Given the description of an element on the screen output the (x, y) to click on. 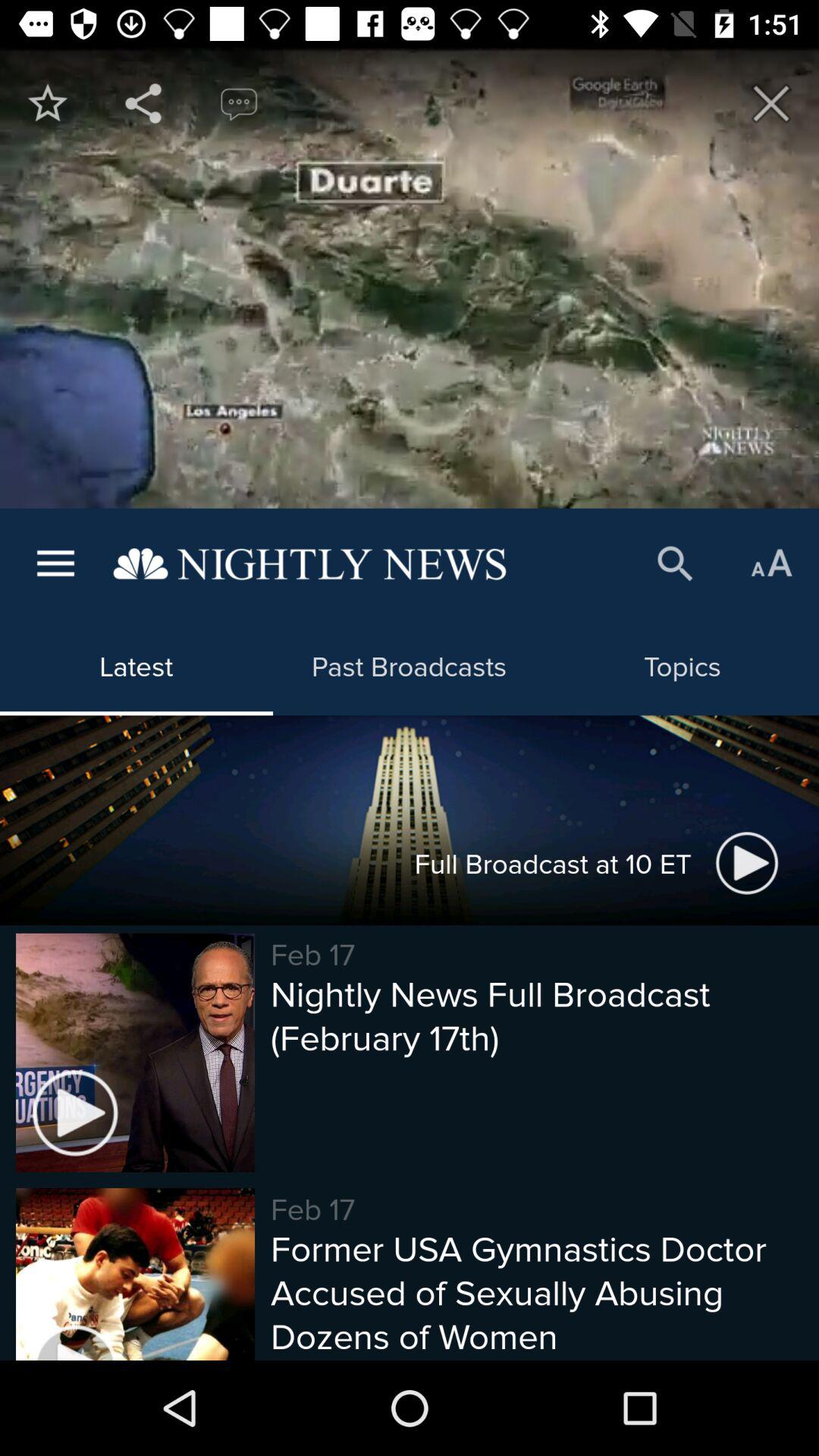
select item at the top right corner (771, 103)
